Given the description of an element on the screen output the (x, y) to click on. 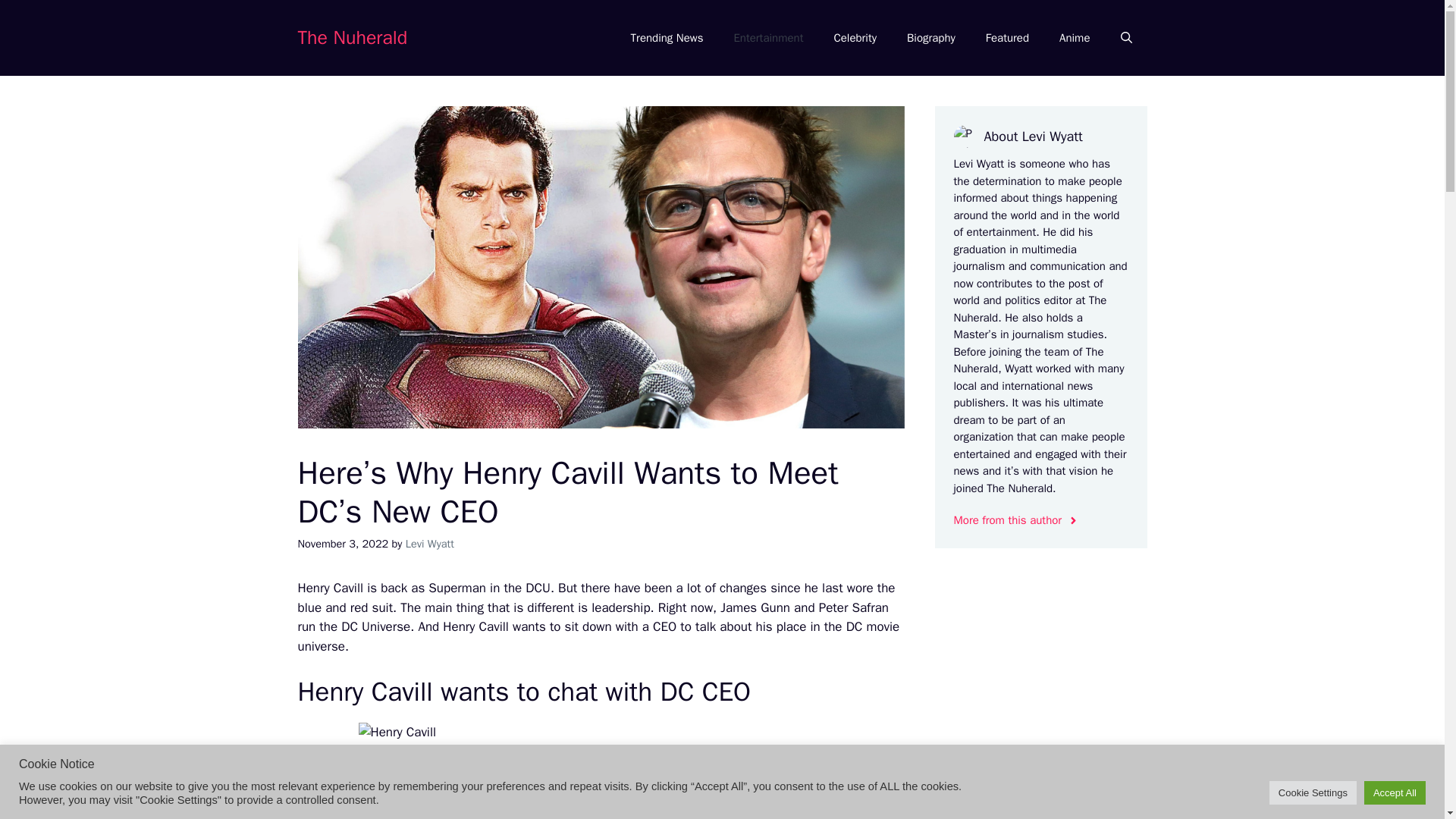
Cookie Settings (1312, 792)
Anime (1074, 37)
Accept All (1394, 792)
The Nuherald (352, 37)
More from this author (1015, 520)
Levi Wyatt (430, 543)
Trending News (667, 37)
Biography (931, 37)
Entertainment (767, 37)
Featured (1007, 37)
View all posts by Levi Wyatt (430, 543)
Celebrity (854, 37)
